Given the description of an element on the screen output the (x, y) to click on. 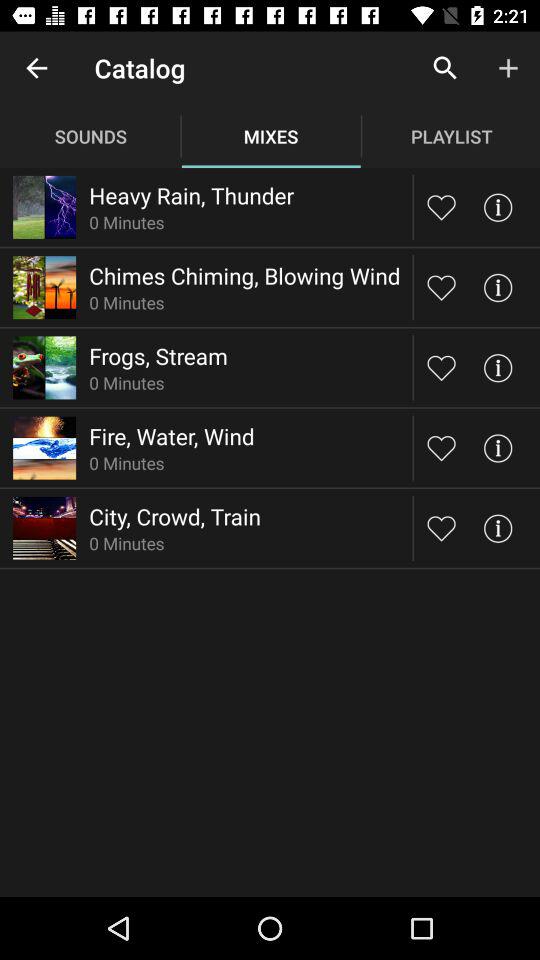
check information (498, 447)
